Given the description of an element on the screen output the (x, y) to click on. 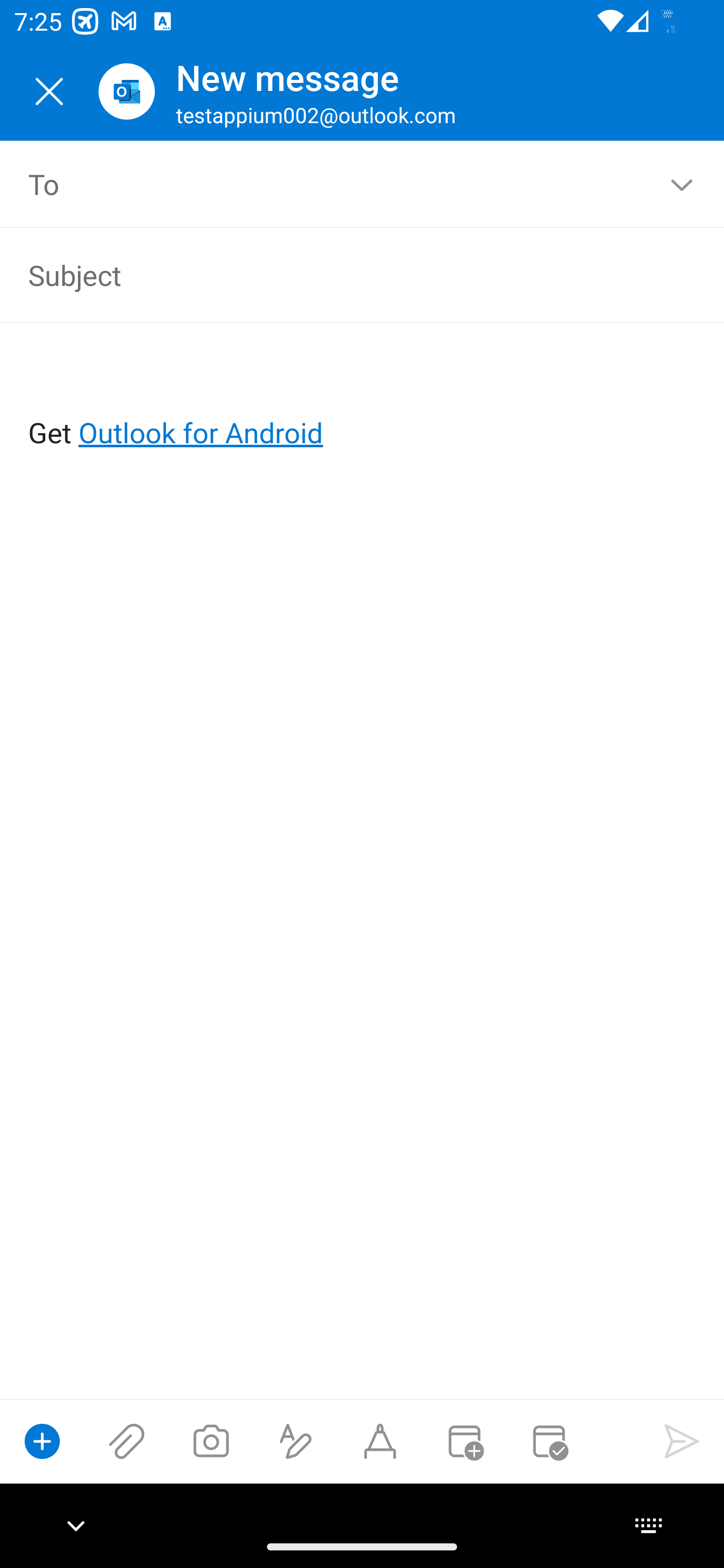
Close (49, 91)
Subject (333, 274)
Show compose options (42, 1440)
Attach files (126, 1440)
Take a photo (210, 1440)
Show formatting options (295, 1440)
Start Ink compose (380, 1440)
Convert to event (464, 1440)
Send availability (548, 1440)
Send (681, 1440)
